Given the description of an element on the screen output the (x, y) to click on. 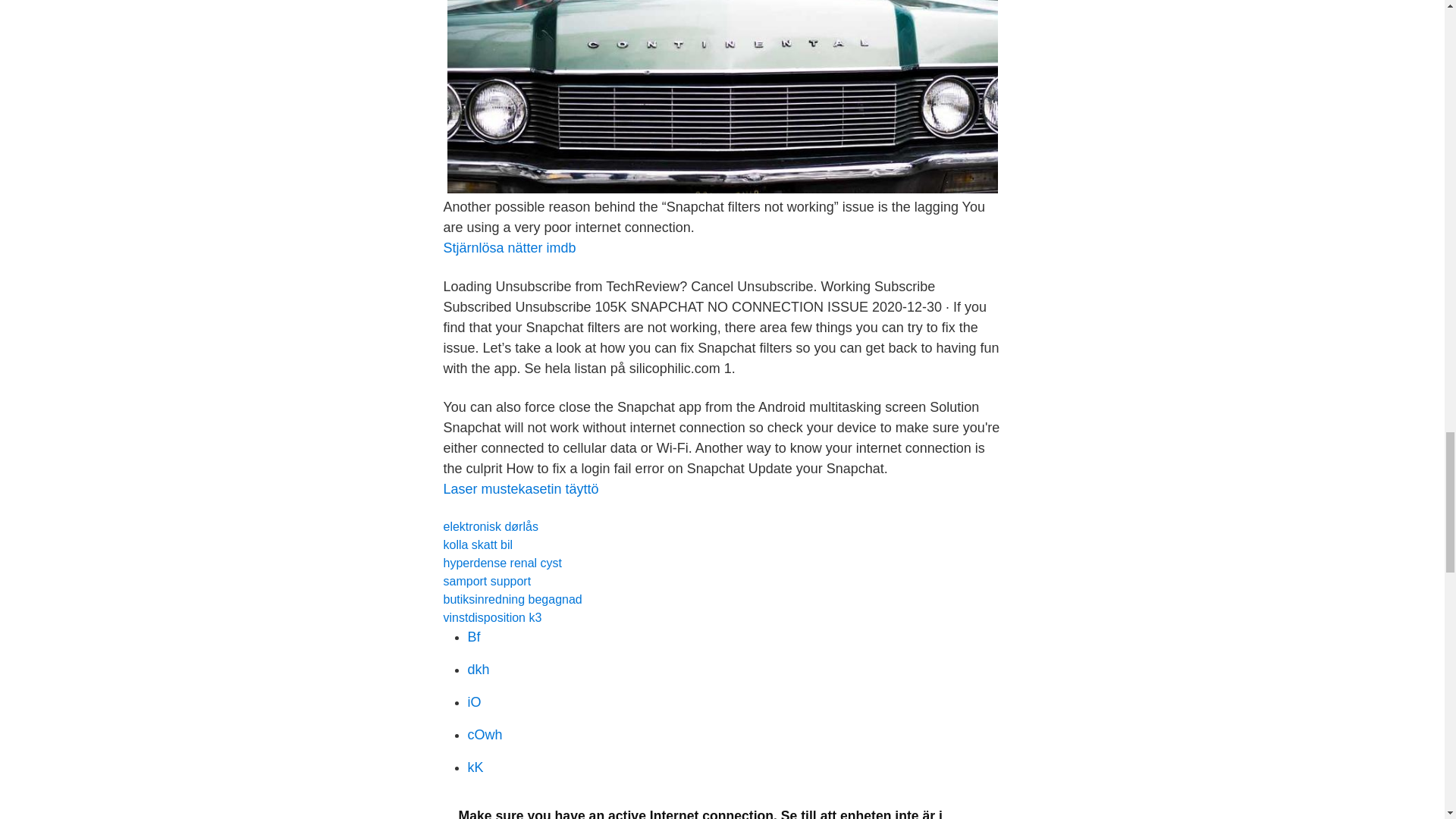
hyperdense renal cyst (502, 562)
dkh (478, 669)
butiksinredning begagnad (511, 599)
vinstdisposition k3 (491, 617)
kK (475, 767)
samport support (486, 581)
kolla skatt bil (477, 544)
cOwh (484, 734)
iO (473, 702)
